Given the description of an element on the screen output the (x, y) to click on. 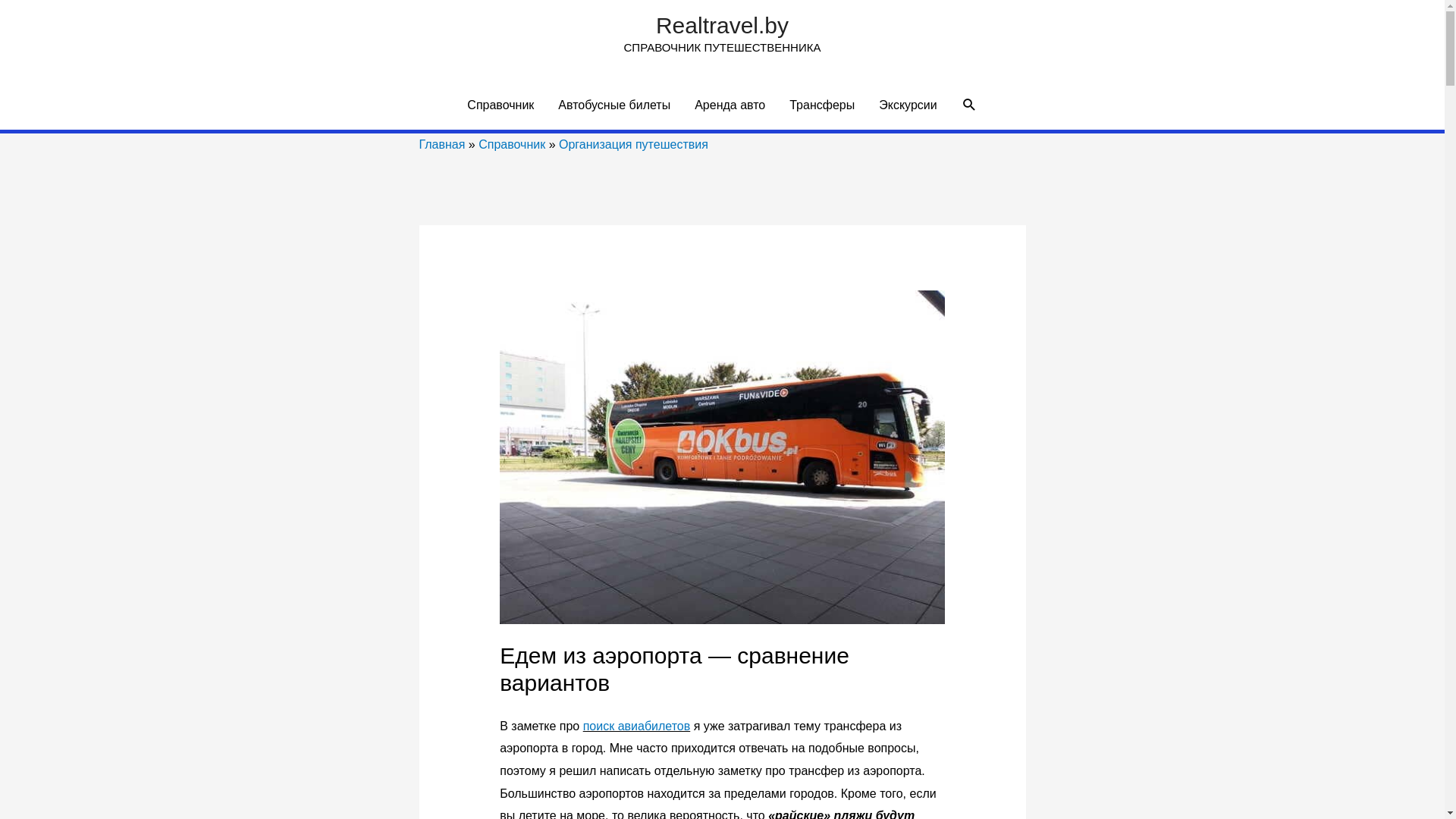
Realtravel.by Element type: text (721, 24)
